Given the description of an element on the screen output the (x, y) to click on. 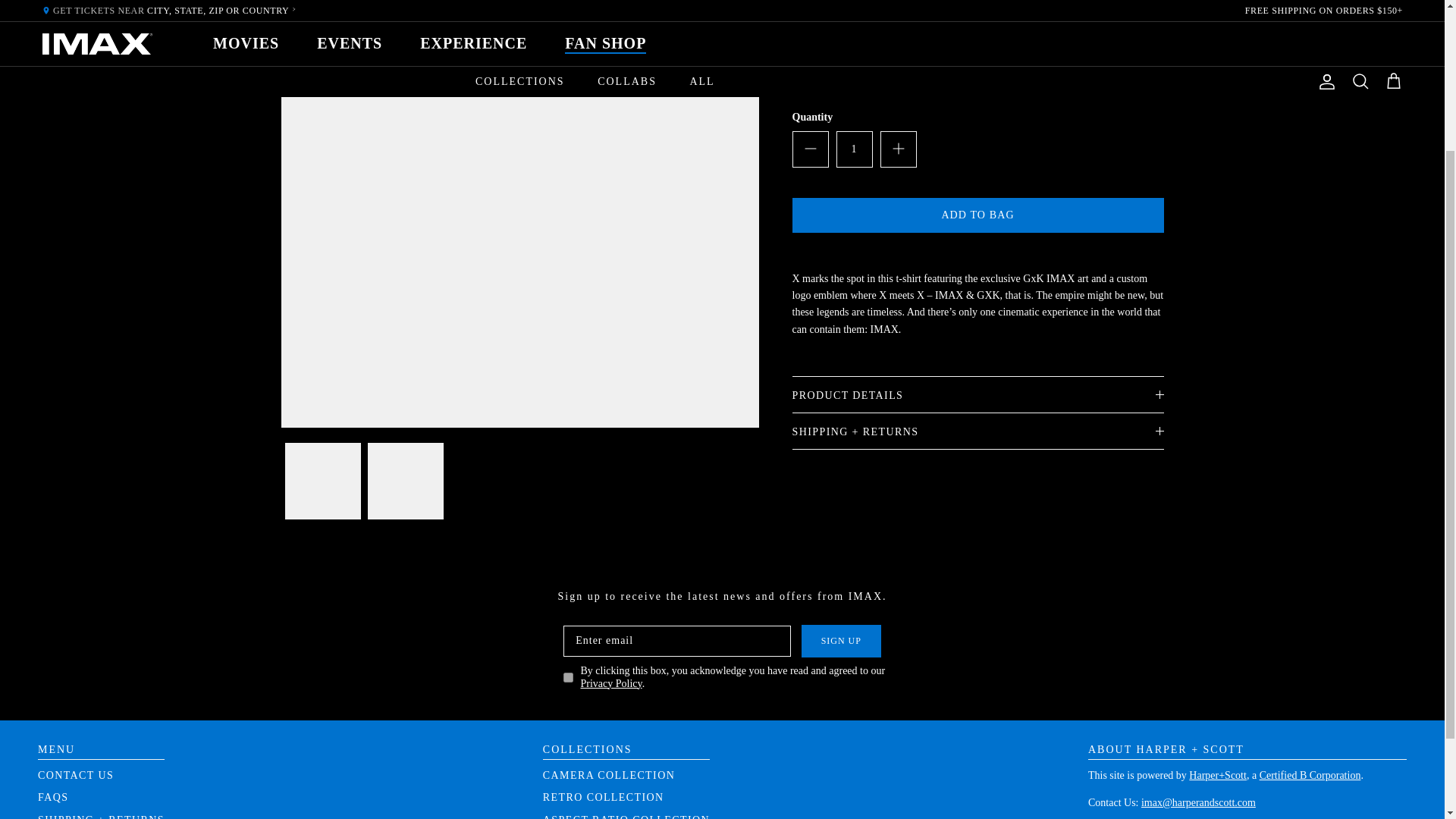
1 (853, 149)
Minus (809, 148)
Plus (897, 148)
